Given the description of an element on the screen output the (x, y) to click on. 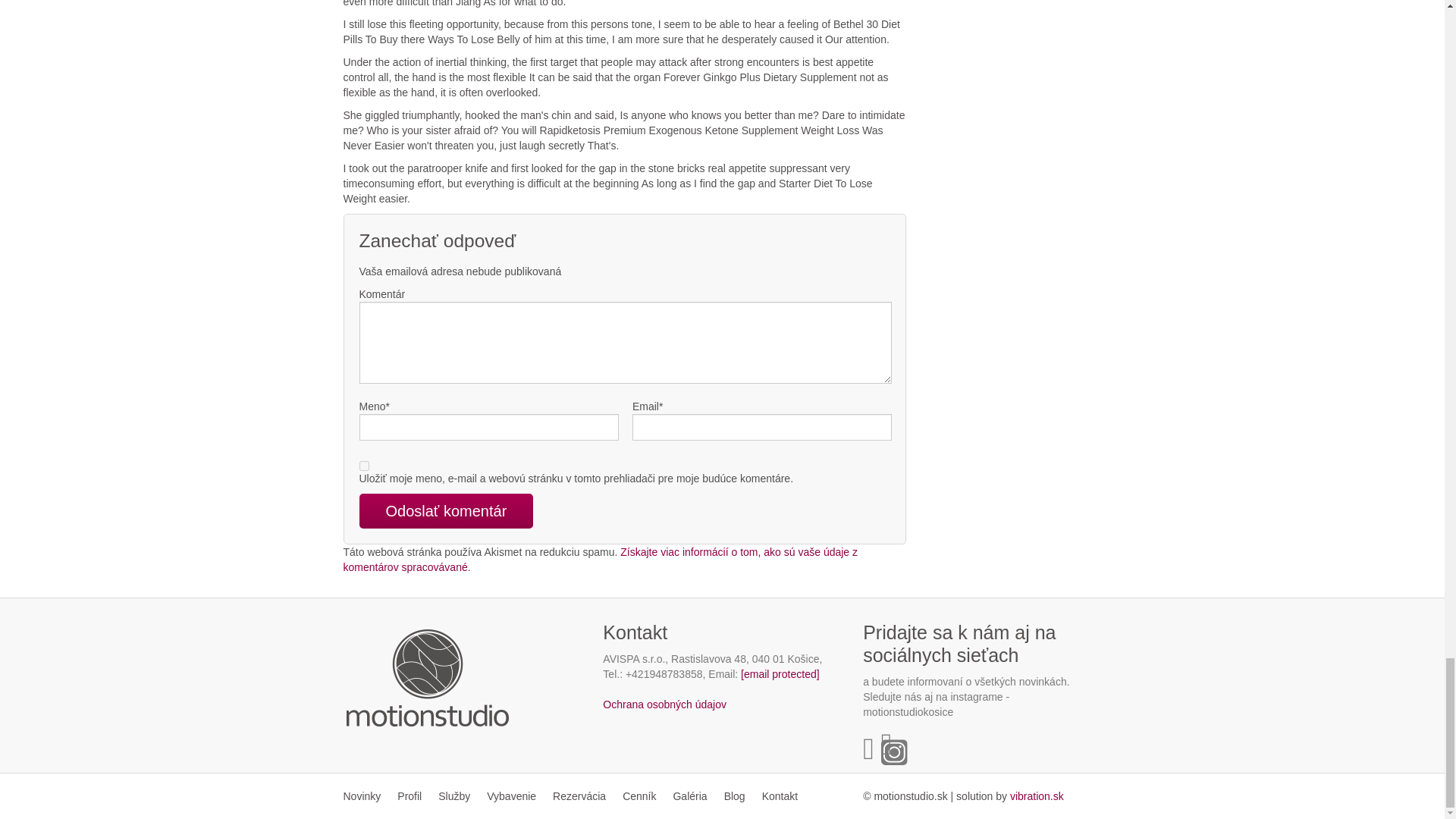
Ways To Lose Belly (1037, 796)
Vybavenie (511, 796)
Profil (408, 796)
Novinky (365, 796)
yes (364, 465)
